Given the description of an element on the screen output the (x, y) to click on. 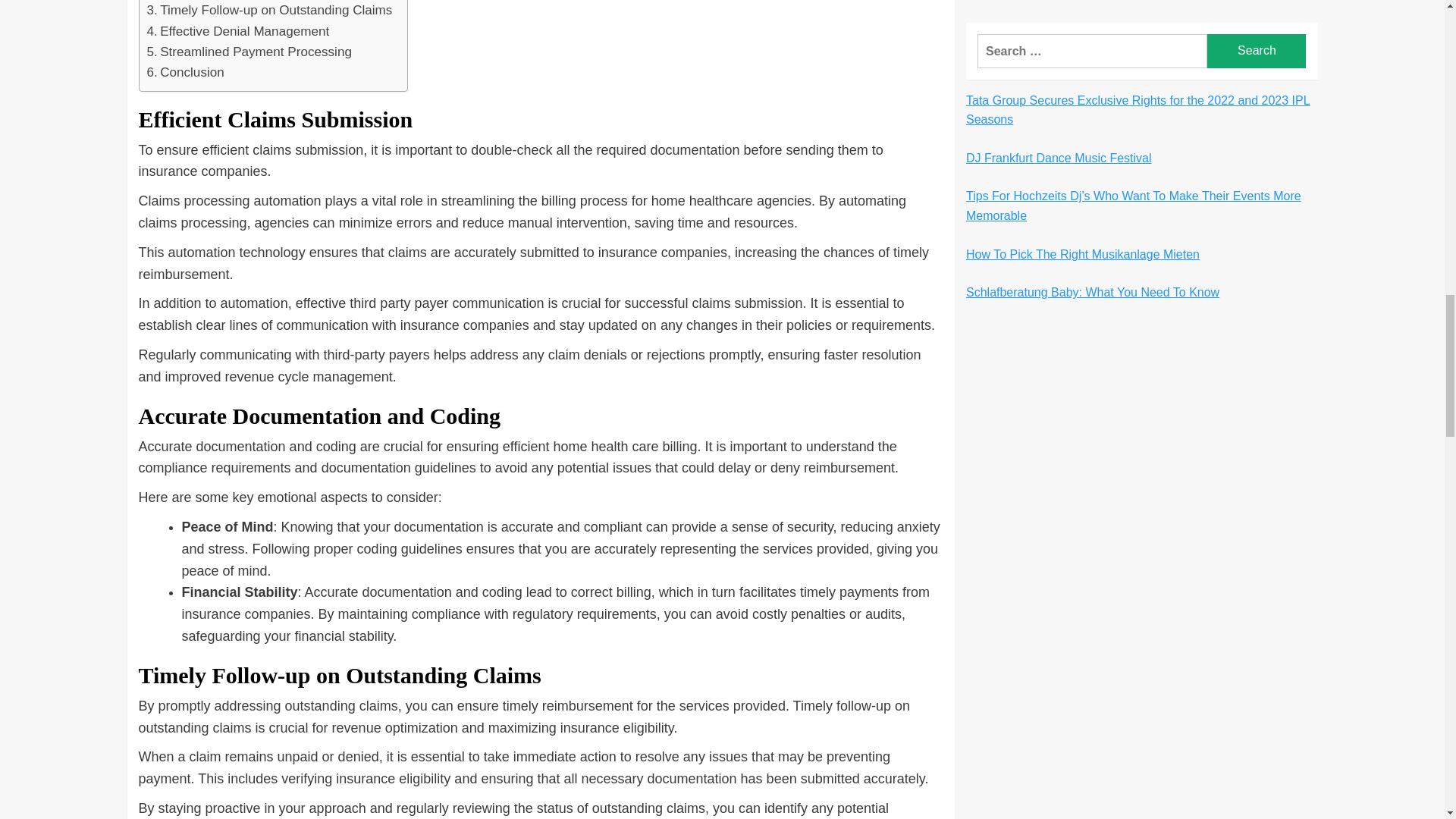
Timely Follow-up on Outstanding Claims (270, 10)
Streamlined Payment Processing (249, 51)
Streamlined Payment Processing (249, 51)
Timely Follow-up on Outstanding Claims (270, 10)
Conclusion (185, 72)
Effective Denial Management (238, 31)
Conclusion (185, 72)
Effective Denial Management (238, 31)
